Given the description of an element on the screen output the (x, y) to click on. 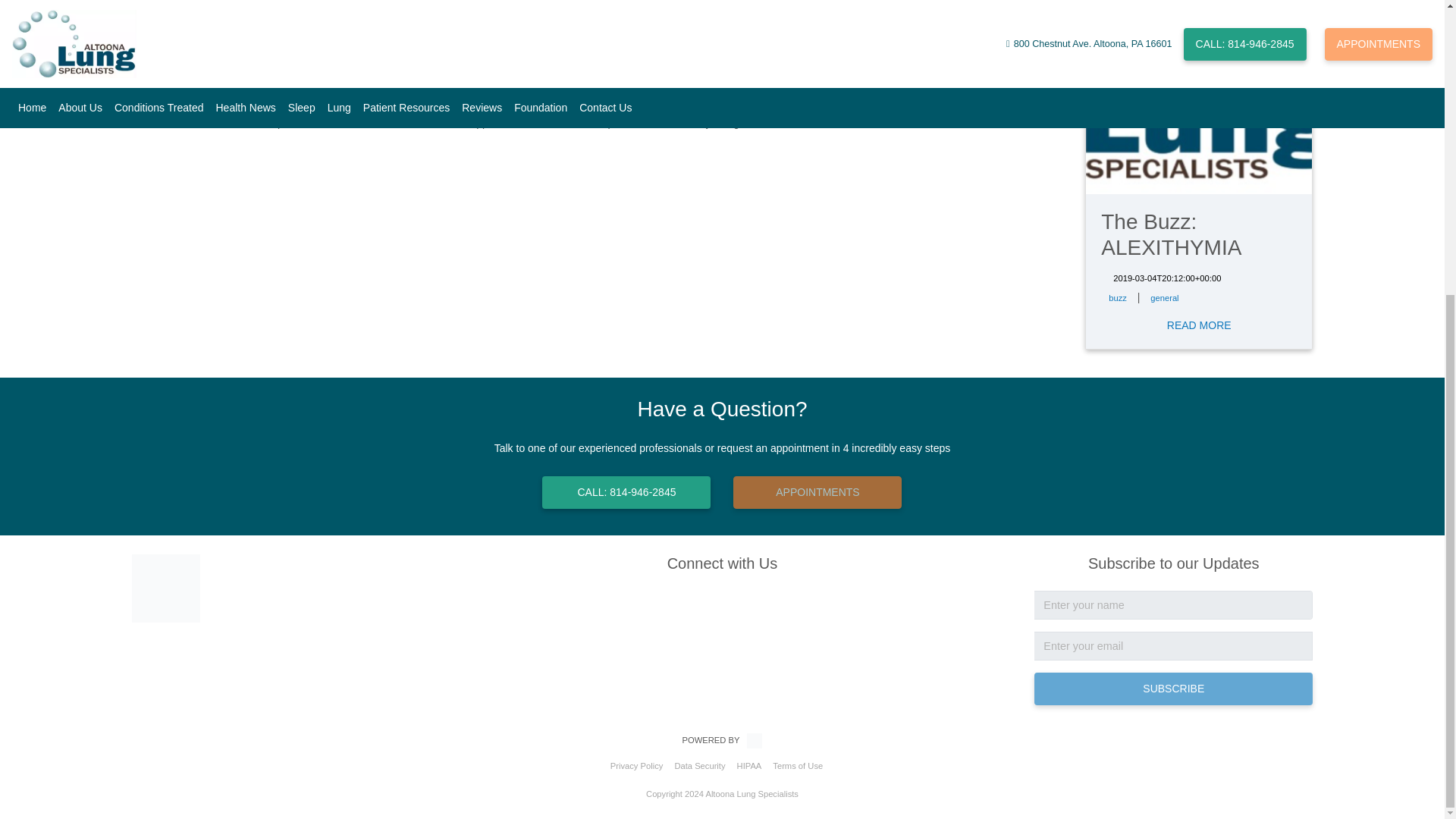
Google Reviews (742, 603)
Youtube (700, 603)
Facebook (721, 603)
